Given the description of an element on the screen output the (x, y) to click on. 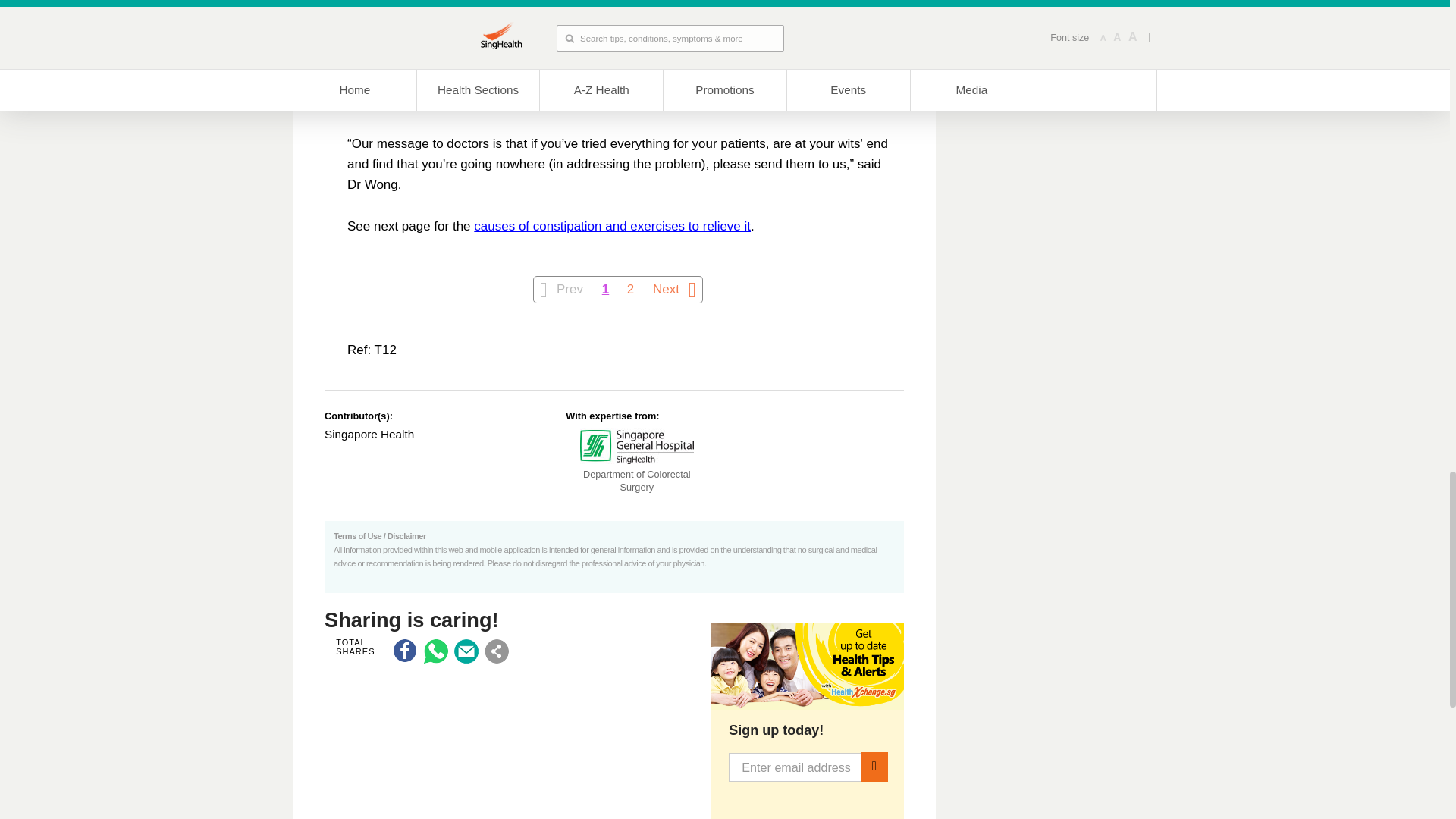
Facebook (405, 651)
WhatsApp (435, 651)
Share this Page (496, 651)
Email Us (466, 651)
